Given the description of an element on the screen output the (x, y) to click on. 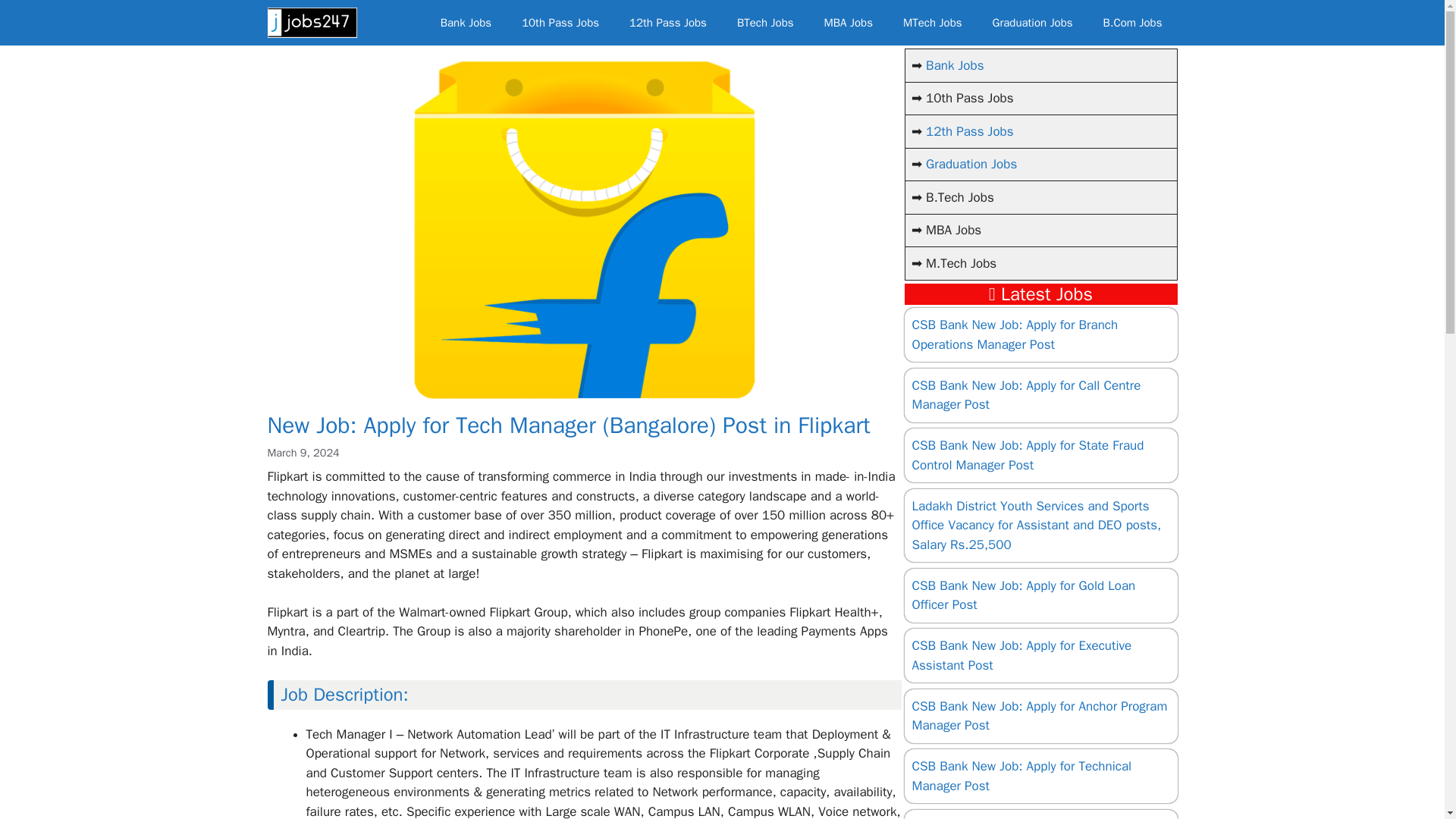
Bank Jobs (465, 22)
CSB Bank New Job: Apply for Executive Assistant Post (1021, 655)
Jobs247 (311, 22)
12th Pass Jobs (668, 22)
CSB Bank New Job: Apply for Gold Loan Officer Post (1023, 595)
10th Pass Jobs (560, 22)
CSB Bank New Job: Apply for Anchor Program Manager Post (1039, 715)
CSB Bank New Job: Apply for Branch Operations Manager Post (1014, 334)
MTech Jobs (932, 22)
CSB Bank New Job: Apply for Call Centre Manager Post (1025, 395)
